Given the description of an element on the screen output the (x, y) to click on. 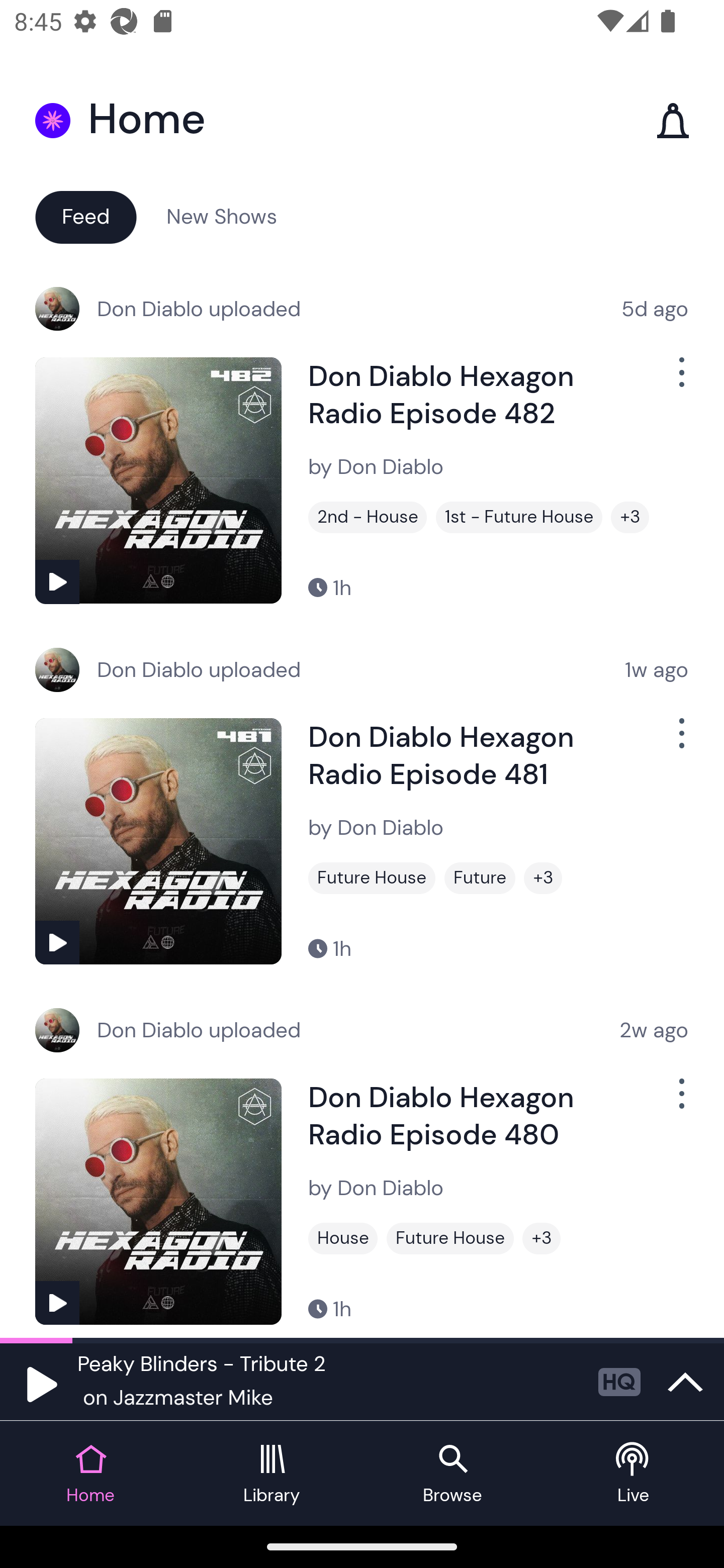
Feed (85, 216)
New Shows (221, 216)
Show Options Menu Button (679, 379)
2nd - House (367, 517)
1st - Future House (518, 517)
Show Options Menu Button (679, 740)
Future House (371, 877)
Future (479, 877)
Show Options Menu Button (679, 1101)
House (342, 1238)
Future House (450, 1238)
Home tab Home (90, 1473)
Library tab Library (271, 1473)
Browse tab Browse (452, 1473)
Live tab Live (633, 1473)
